Given the description of an element on the screen output the (x, y) to click on. 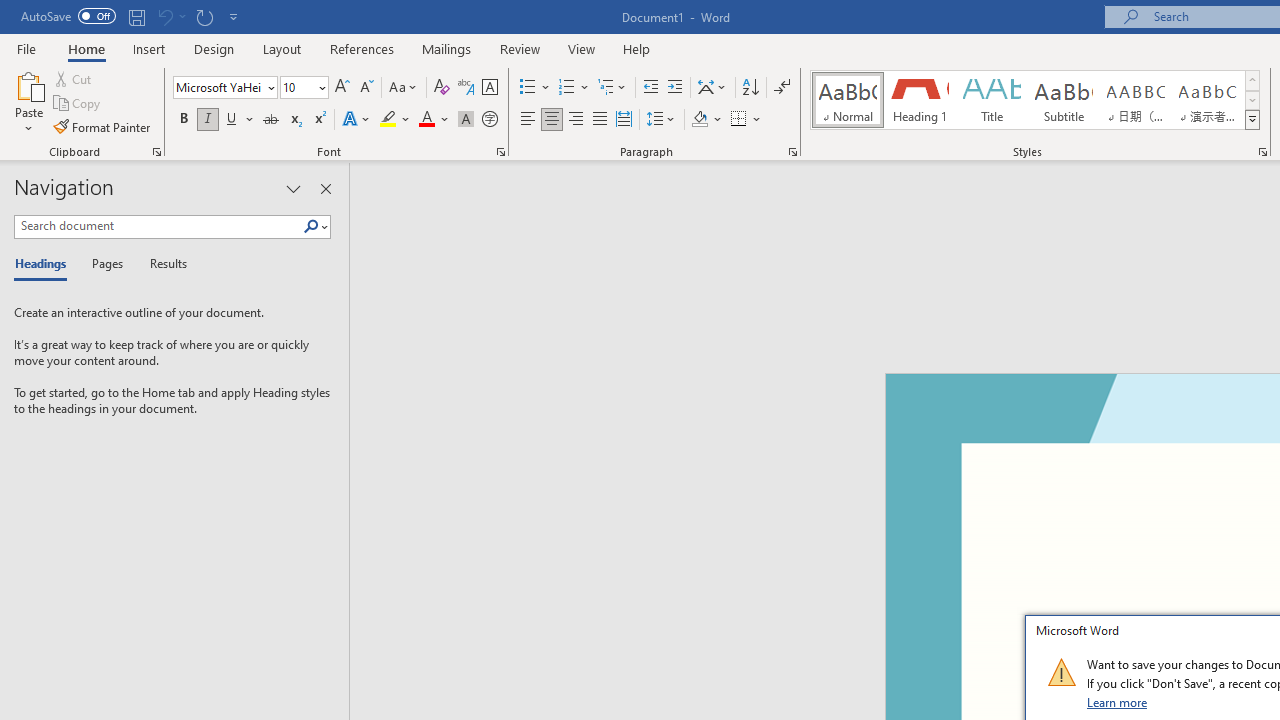
Italic (207, 119)
Styles... (1262, 151)
Decrease Indent (650, 87)
Superscript (319, 119)
Subscript (294, 119)
